Given the description of an element on the screen output the (x, y) to click on. 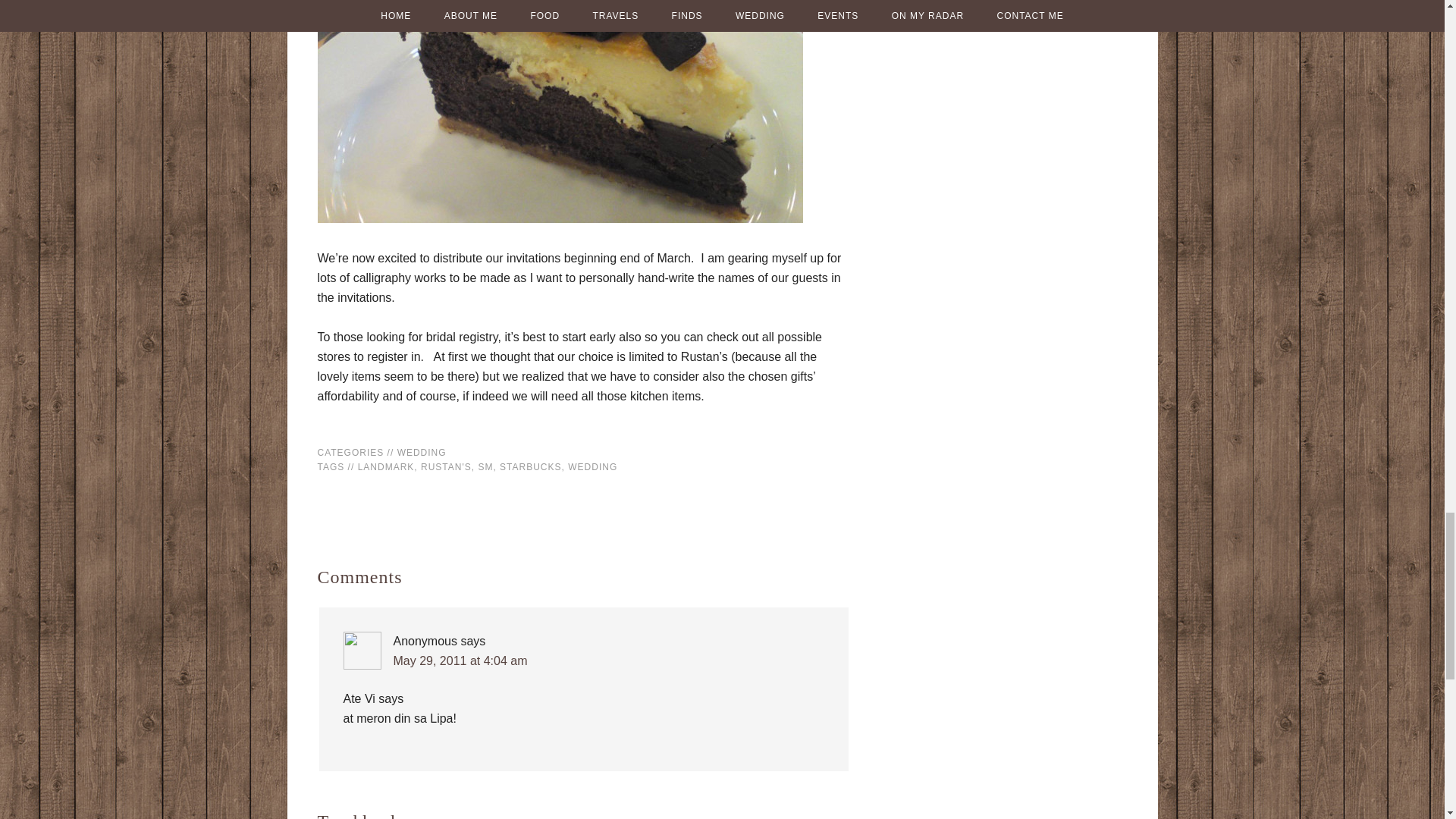
LANDMARK (386, 466)
SM (485, 466)
RUSTAN'S (445, 466)
WEDDING (421, 452)
STARBUCKS (529, 466)
WEDDING (592, 466)
May 29, 2011 at 4:04 am (460, 660)
